Given the description of an element on the screen output the (x, y) to click on. 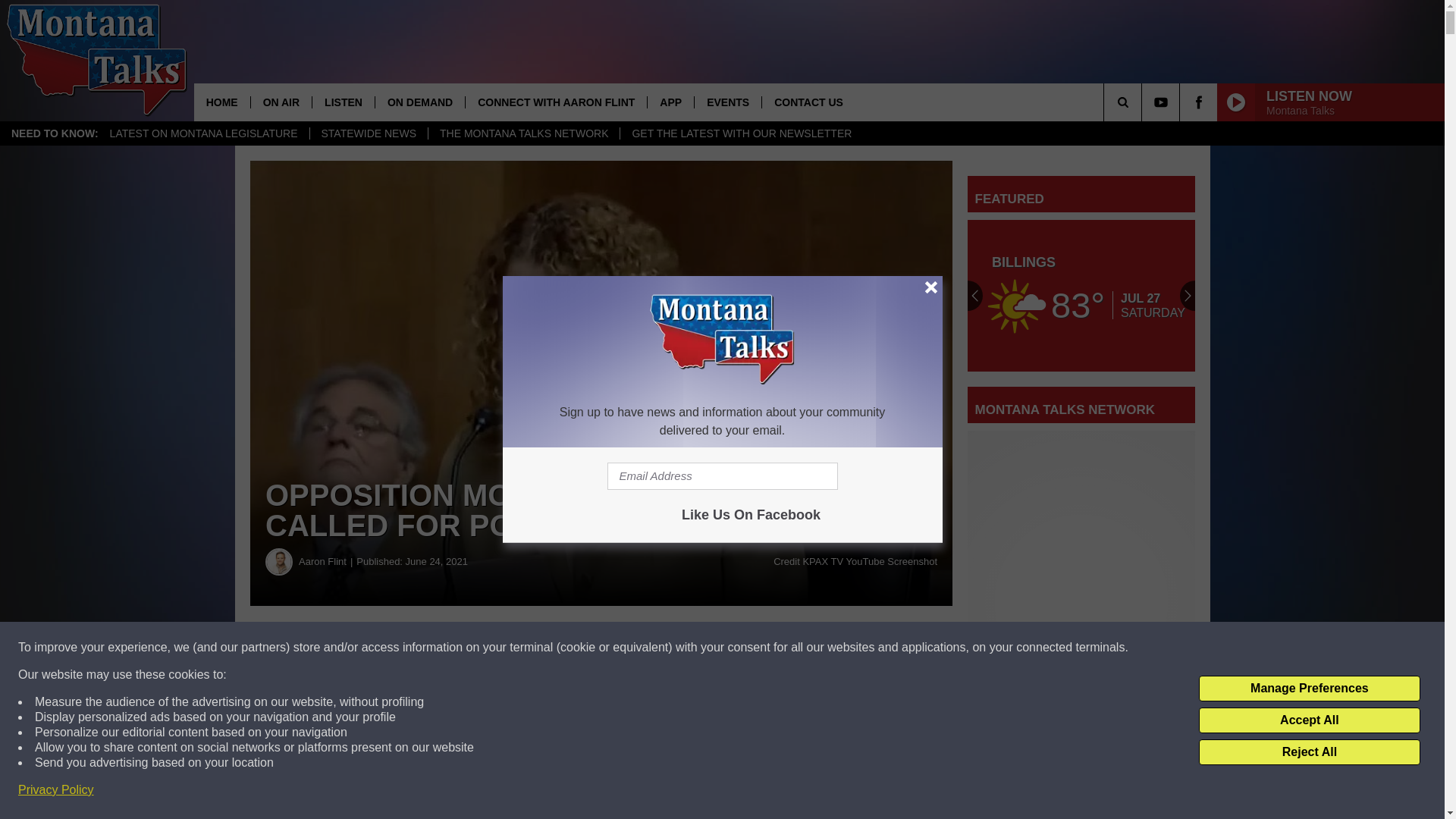
LISTEN (342, 102)
Billings Weather (1081, 295)
Privacy Policy (55, 789)
Manage Preferences (1309, 688)
Accept All (1309, 720)
ON DEMAND (419, 102)
SEARCH (1144, 102)
LATEST ON MONTANA LEGISLATURE (203, 133)
CONTACT US (808, 102)
CONNECT WITH AARON FLINT (555, 102)
HOME (221, 102)
STATEWIDE NEWS (368, 133)
THE MONTANA TALKS NETWORK (524, 133)
SEARCH (1144, 102)
Share on Twitter (741, 647)
